Given the description of an element on the screen output the (x, y) to click on. 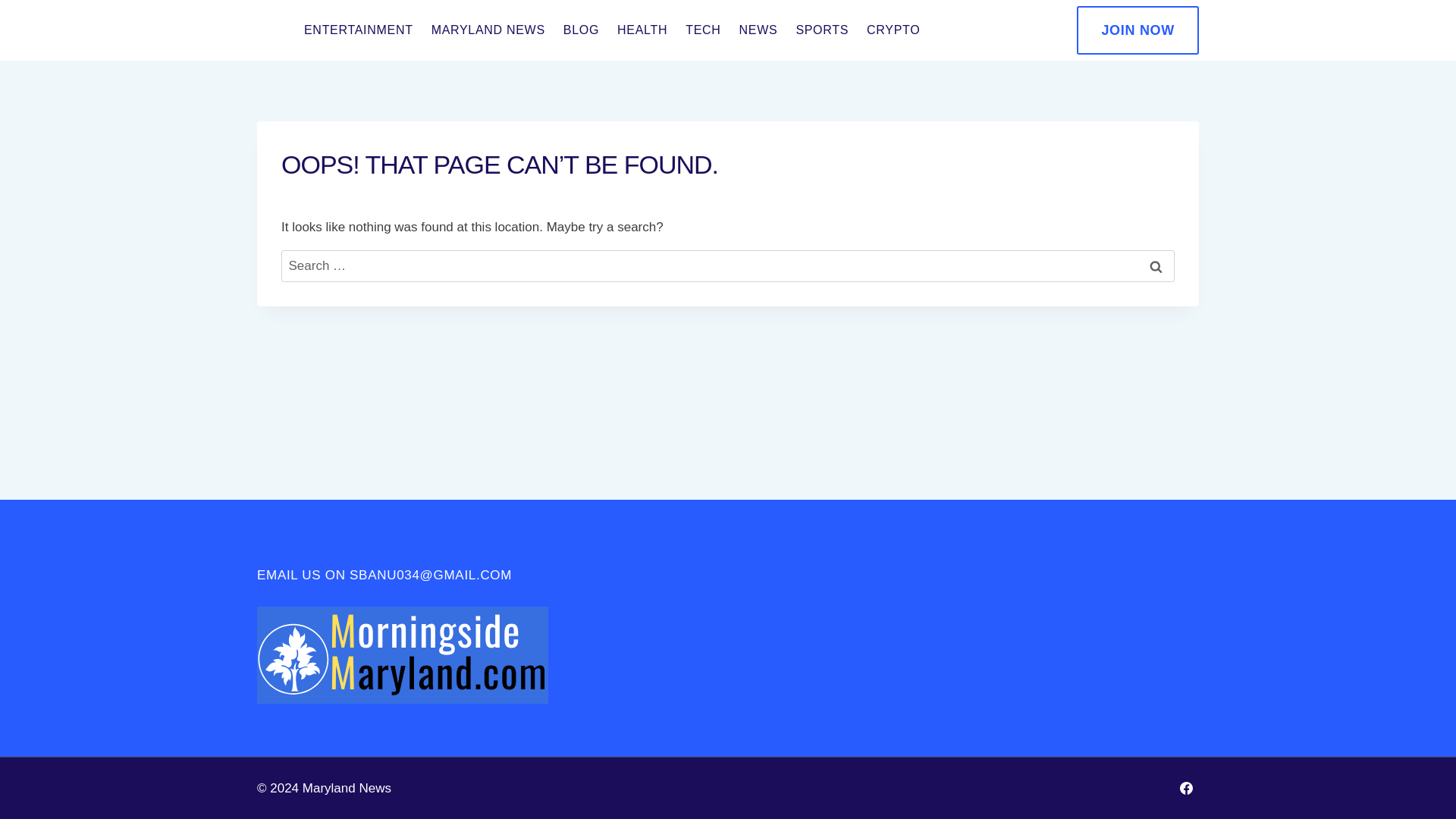
CRYPTO (892, 30)
NEWS (758, 30)
Search (1155, 266)
HEALTH (642, 30)
Search (1155, 266)
JOIN NOW (1137, 30)
TECH (703, 30)
Search (1155, 266)
ENTERTAINMENT (358, 30)
BLOG (581, 30)
MARYLAND NEWS (488, 30)
SPORTS (821, 30)
